Given the description of an element on the screen output the (x, y) to click on. 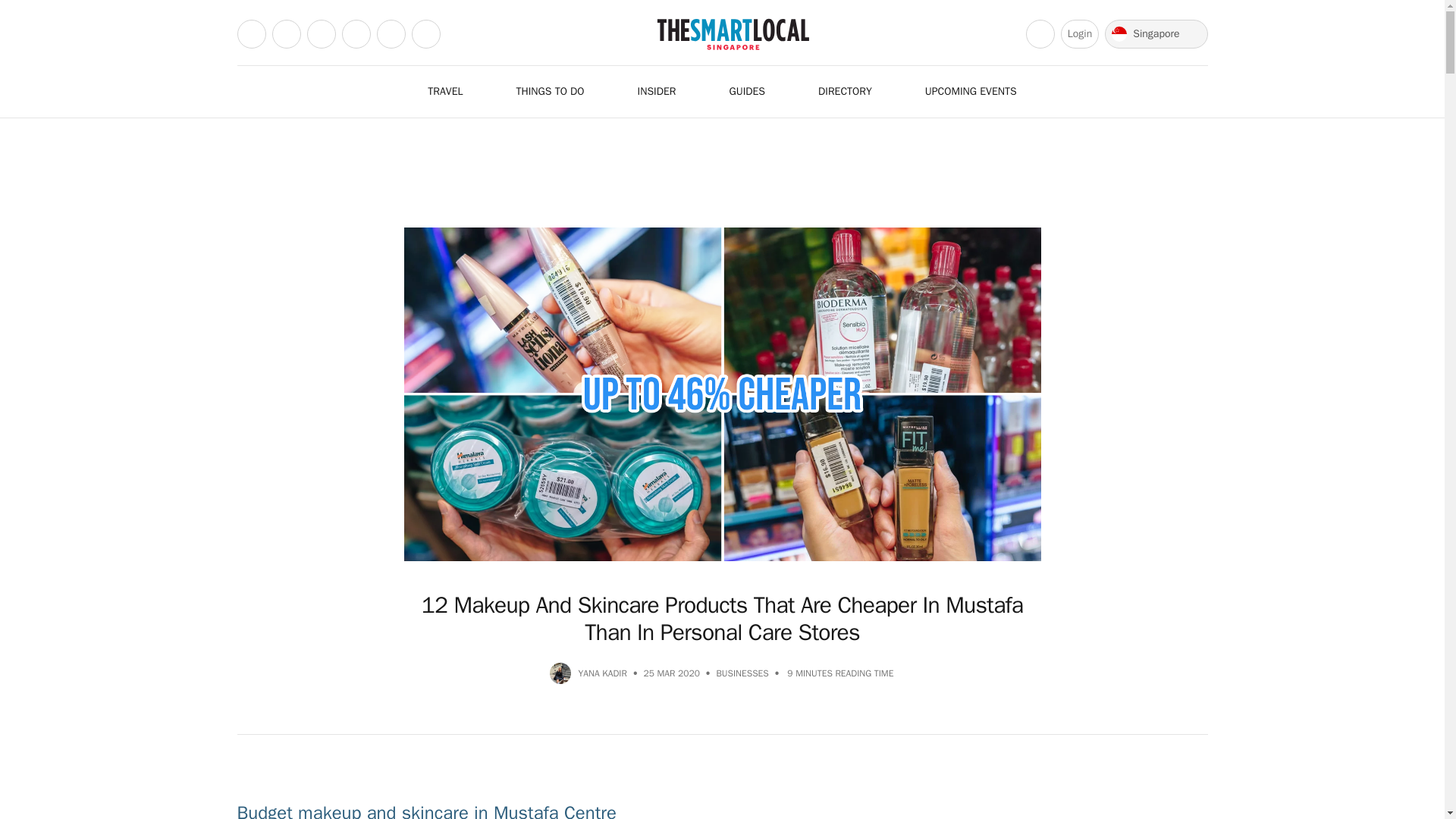
TRAVEL (453, 91)
Open search popup (1040, 33)
Singapore (1156, 33)
Posts by Yana Kadir (602, 673)
Login (1080, 33)
